Given the description of an element on the screen output the (x, y) to click on. 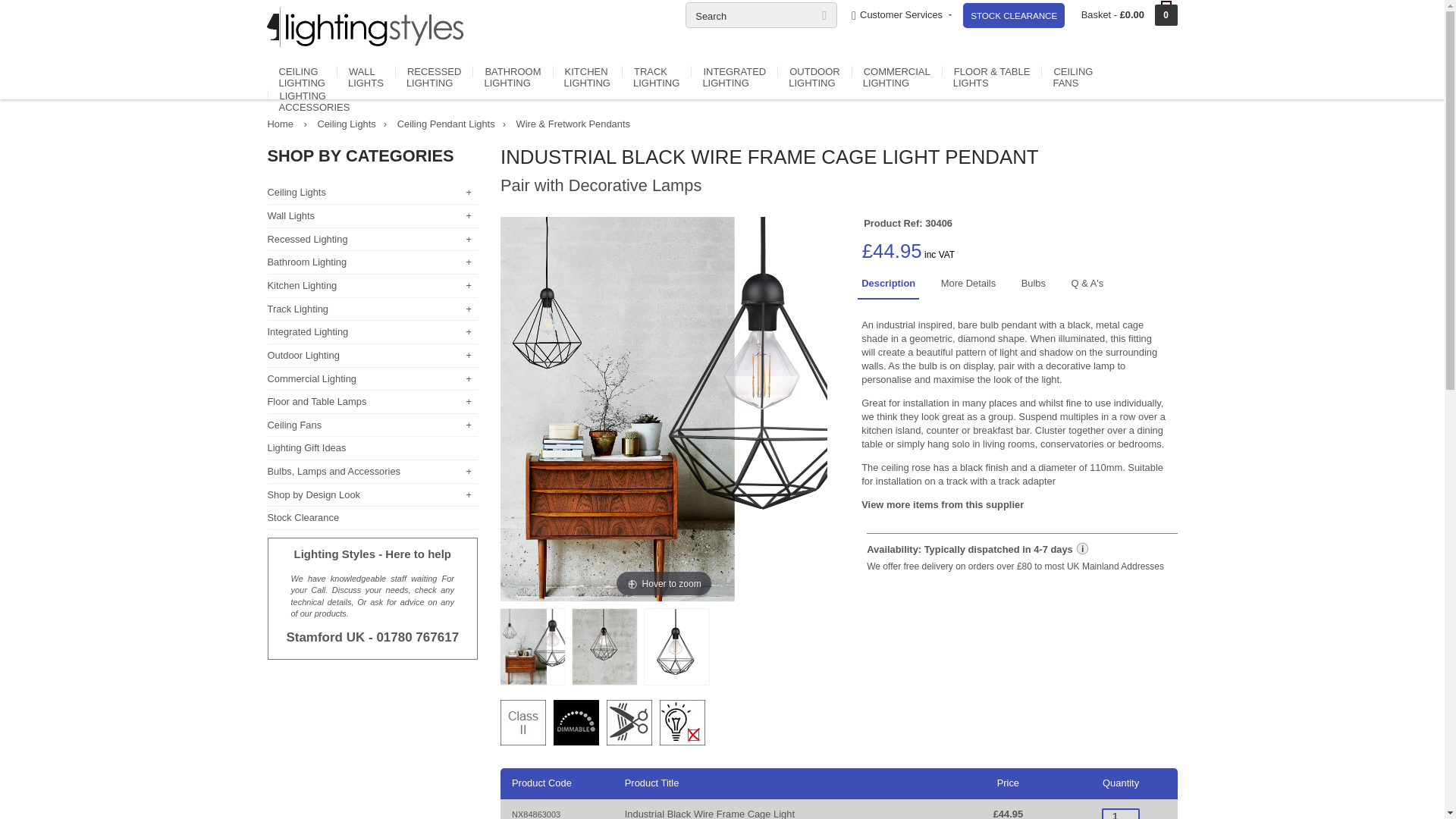
Often In stock, but this is a fast moving item (978, 549)
Bulbs Not Included (681, 722)
Black Friday (1013, 15)
Rose Gold Geometric Pendant Diameter 230mm (1101, 808)
1 (1121, 813)
Search (761, 14)
Vintage Mesh Multi-Facetted Metal Pendants (576, 808)
Flex can be shorted at the time of installation. (629, 722)
5 Light Pendant with Open Box Shades (751, 808)
